Given the description of an element on the screen output the (x, y) to click on. 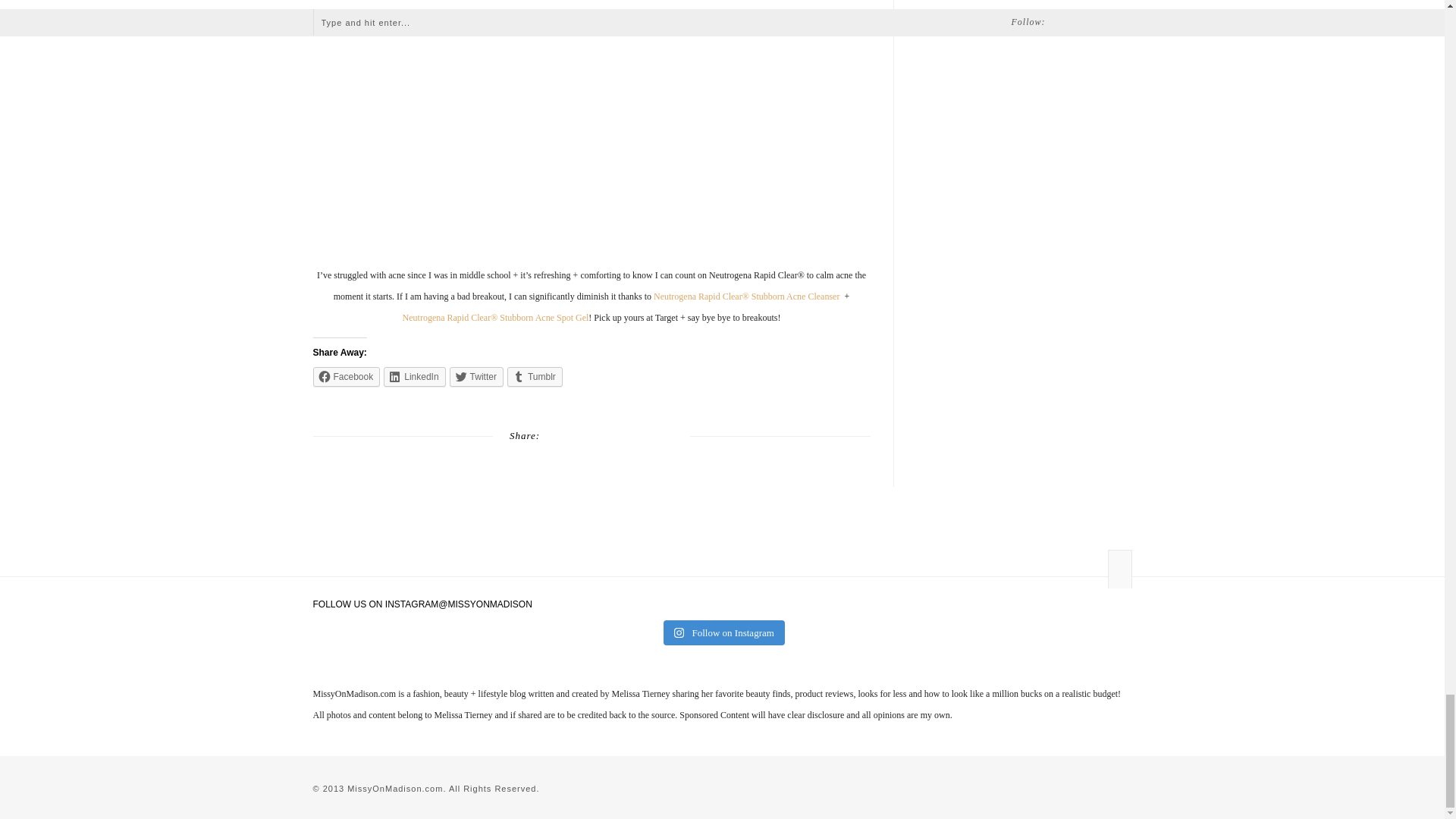
Click to share on Tumblr (534, 376)
Click to share on Twitter (476, 376)
Click to share on Facebook (346, 376)
Click to share on LinkedIn (414, 376)
